Given the description of an element on the screen output the (x, y) to click on. 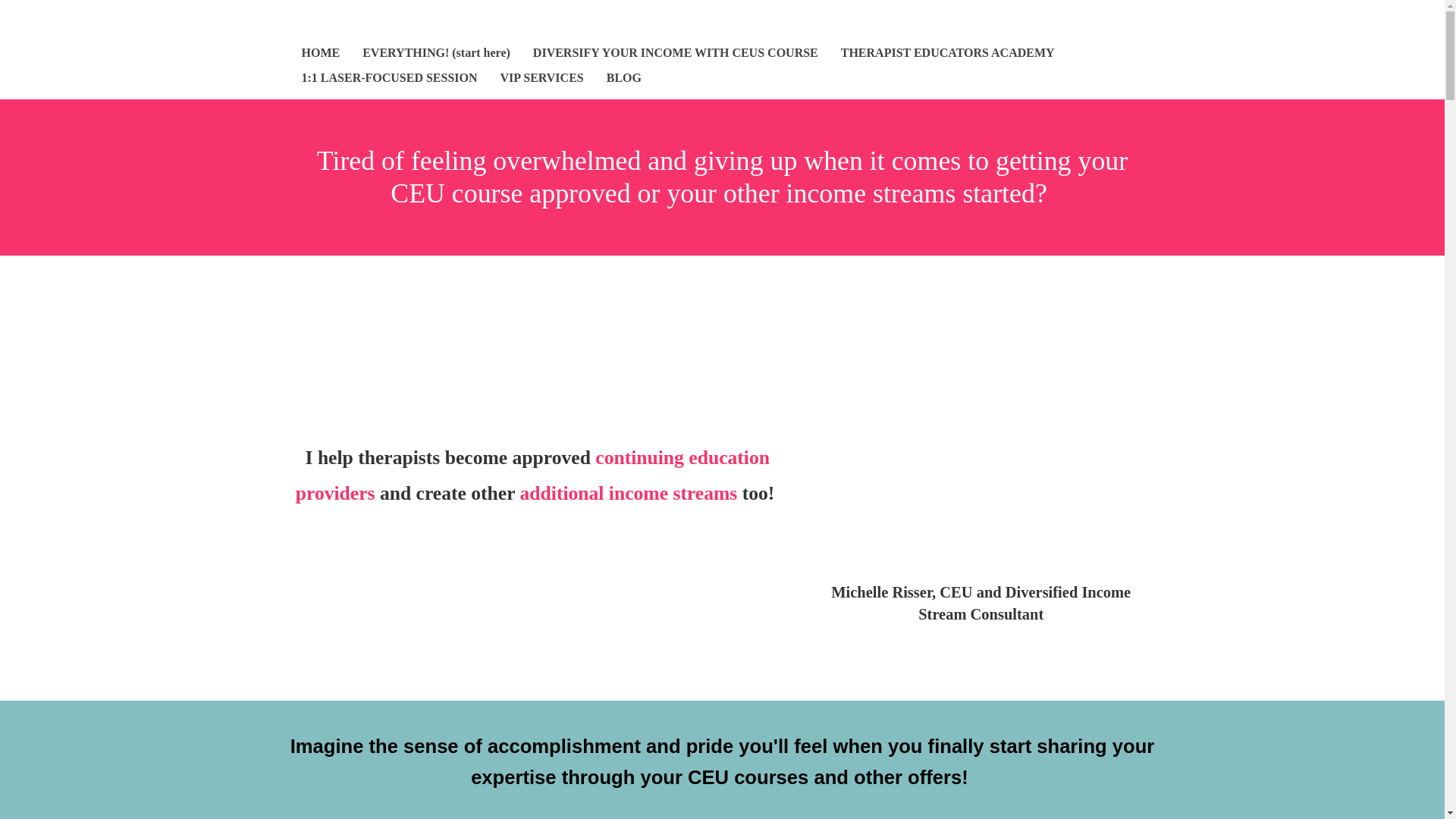
HOME (320, 53)
THERAPIST EDUCATORS ACADEMY (947, 53)
1:1 LASER-FOCUSED SESSION (389, 78)
DIVERSIFY YOUR INCOME WITH CEUS COURSE (675, 53)
VIP SERVICES (541, 78)
BLOG (624, 78)
